Given the description of an element on the screen output the (x, y) to click on. 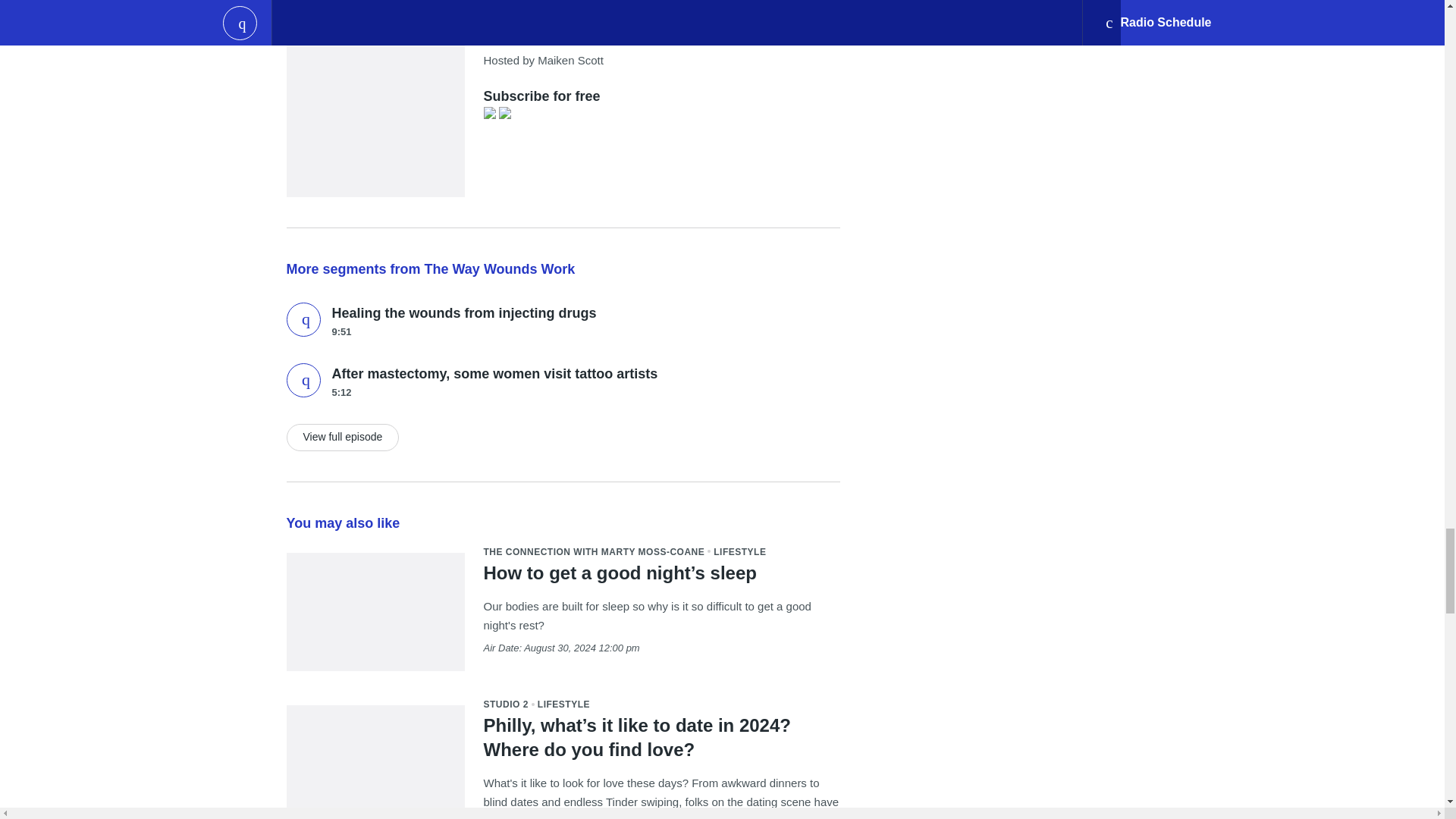
After mastectomy, some women visit tattoo artists (303, 380)
Healing the wounds from injecting drugs (463, 313)
Healing the wounds from injecting drugs (303, 319)
